Given the description of an element on the screen output the (x, y) to click on. 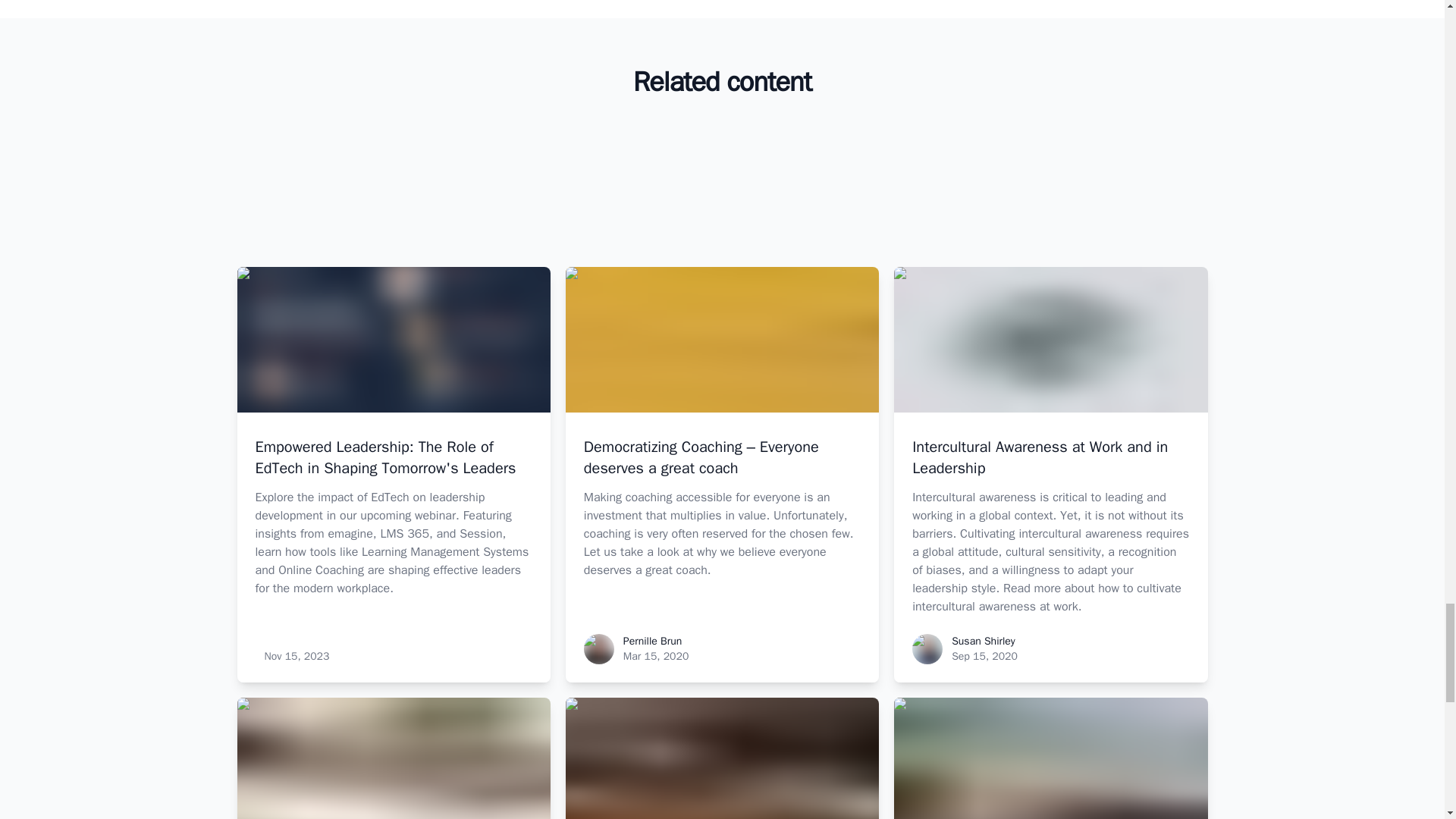
Susan Shirley (983, 640)
Pernille Brun (598, 648)
Pernille Brun (652, 640)
Susan Shirley (927, 648)
